Given the description of an element on the screen output the (x, y) to click on. 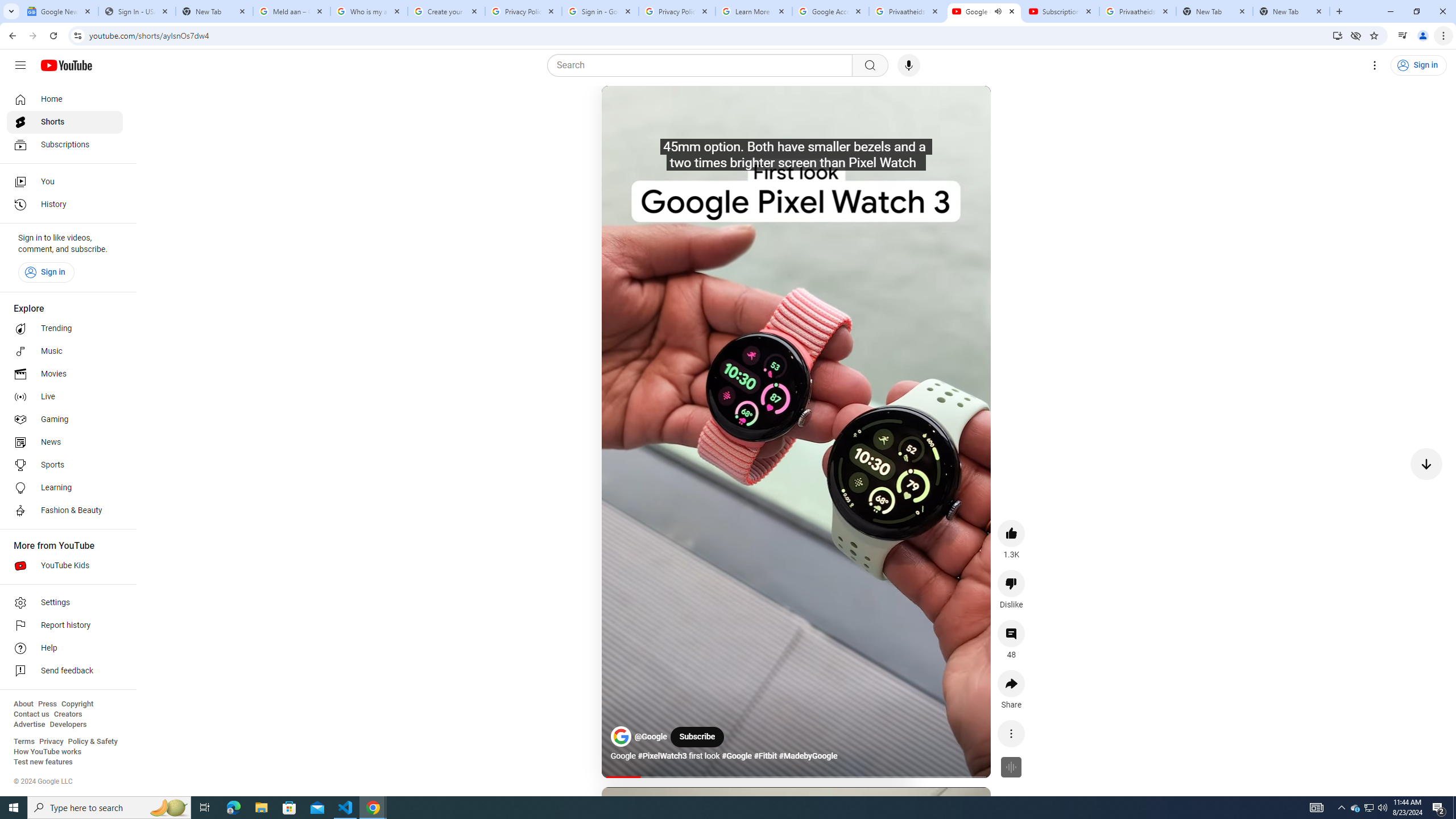
Play (k) (623, 108)
#MadebyGoogle (807, 756)
News (64, 441)
Subscriptions - YouTube (1061, 11)
@Google (651, 736)
Copyright (77, 703)
Guide (20, 65)
Sign in - Google Accounts (599, 11)
Sign In - USA TODAY (136, 11)
Share (1011, 682)
